Given the description of an element on the screen output the (x, y) to click on. 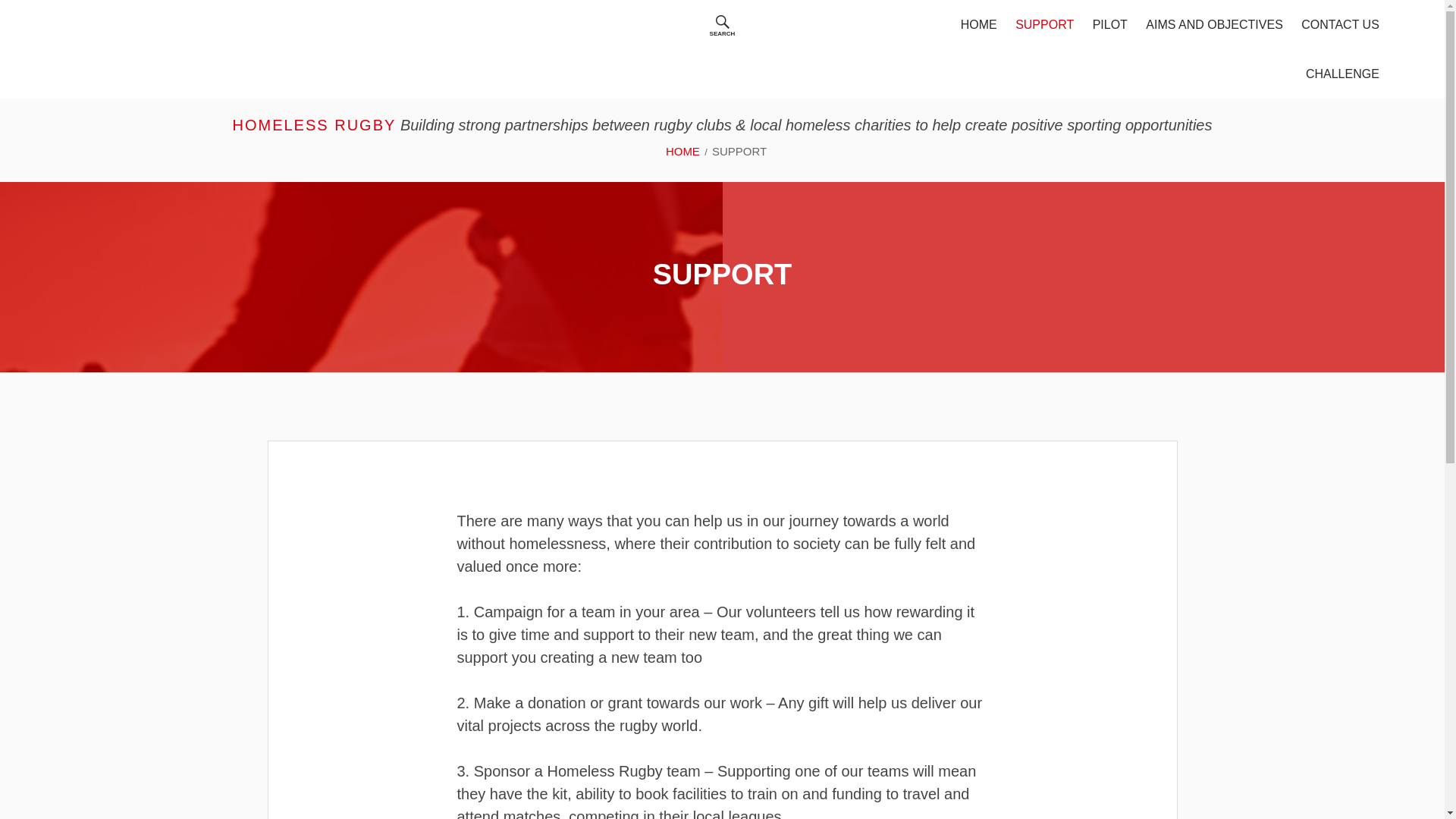
SUPPORT (1044, 24)
CHALLENGE (1342, 73)
HOME (978, 24)
SEARCH (722, 24)
Search (239, 27)
CONTACT US (1340, 24)
HOMELESS RUGBY (313, 124)
AIMS AND OBJECTIVES (1214, 24)
PILOT (1109, 24)
